Given the description of an element on the screen output the (x, y) to click on. 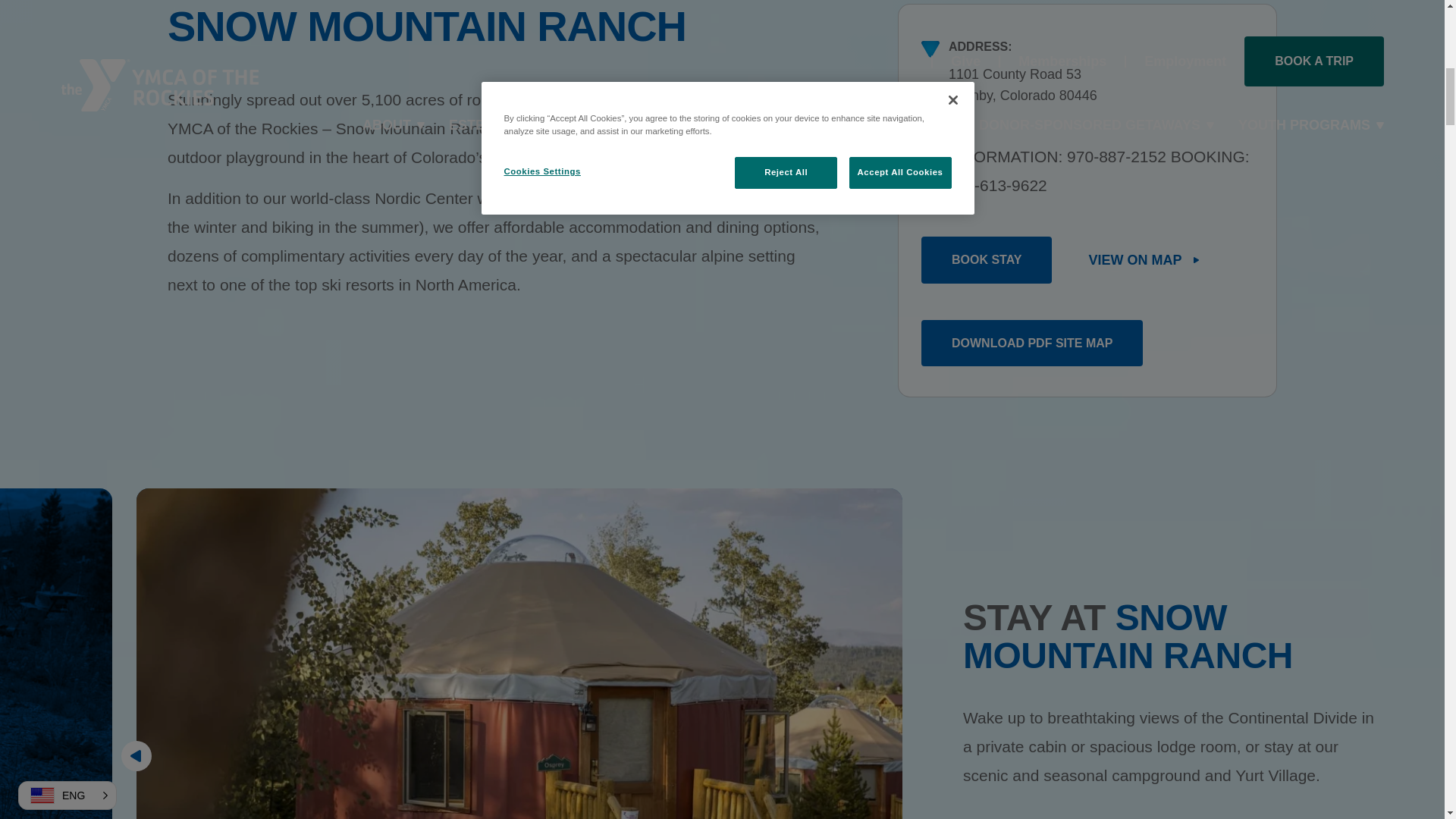
View On Map (1144, 259)
Download PDF Site map (1031, 343)
Book Stay (986, 259)
